Given the description of an element on the screen output the (x, y) to click on. 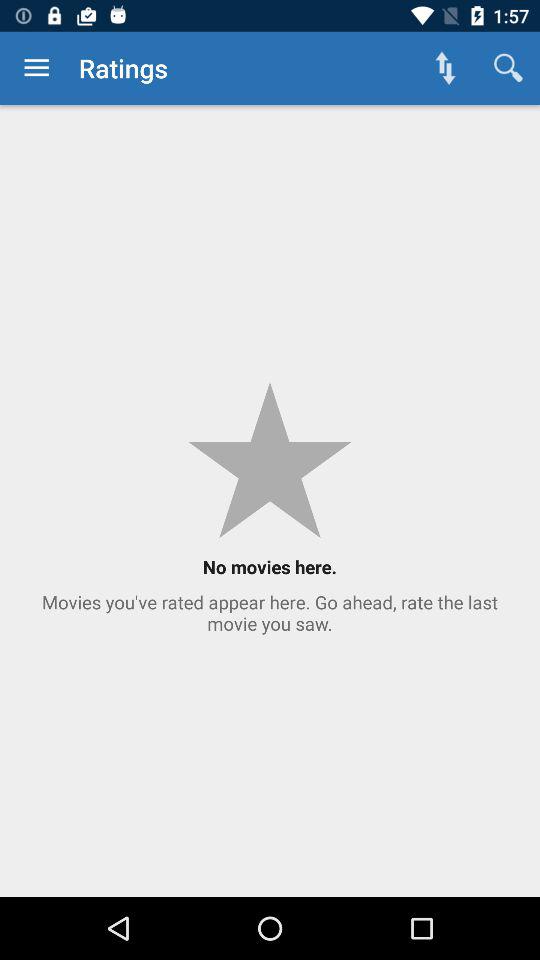
select icon to the right of ratings icon (444, 67)
